Given the description of an element on the screen output the (x, y) to click on. 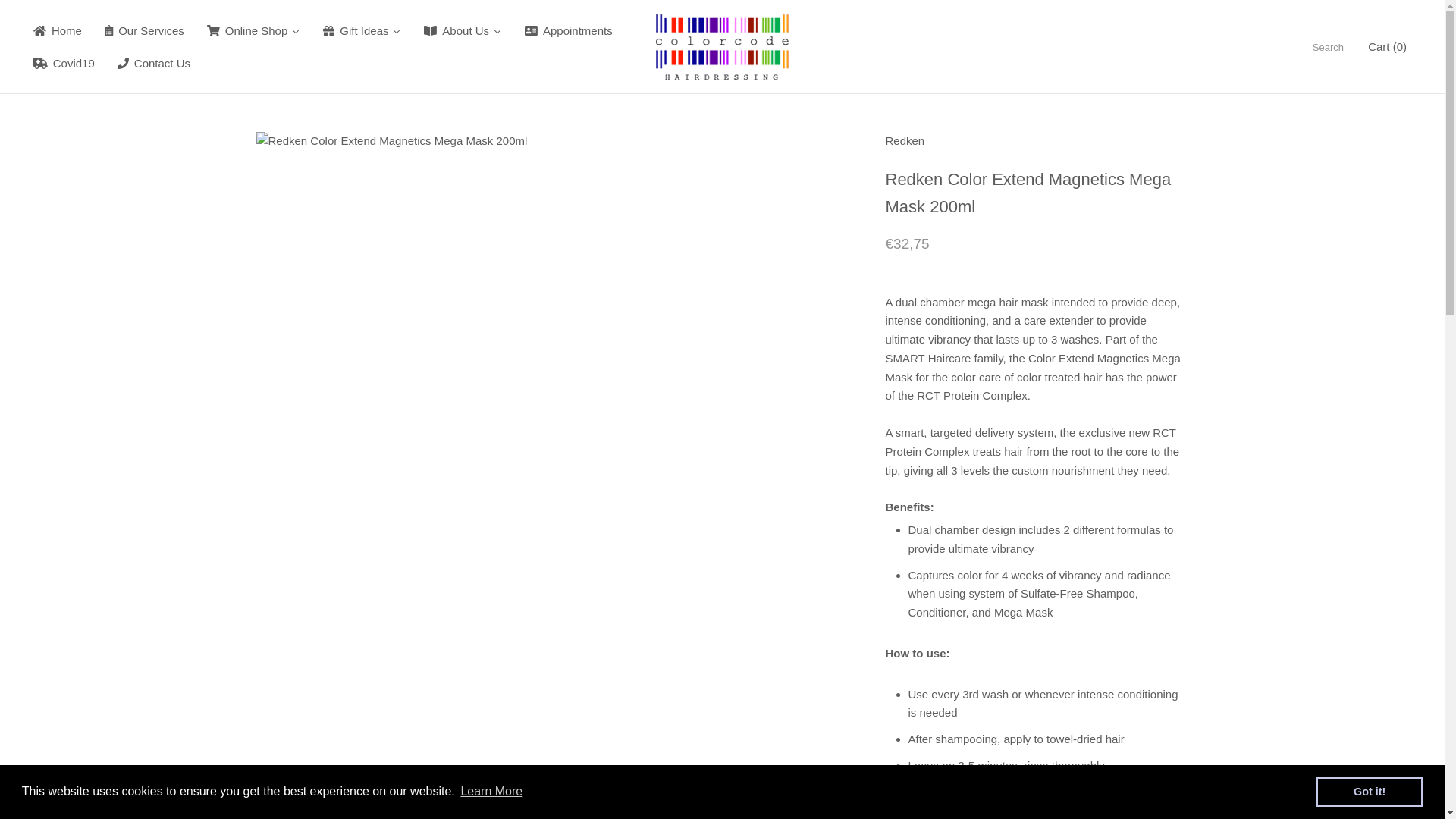
Our Services (144, 30)
Gift Ideas (361, 30)
Got it! (1369, 791)
About Us (462, 30)
Home (57, 30)
Gift Ideas (361, 30)
Learn More (491, 791)
Contact Us (154, 62)
Online Shop (253, 30)
Covid19 (63, 62)
Appointments (568, 30)
Contact Us (154, 62)
Appointments (568, 30)
Online Shop (253, 30)
Covid19 (63, 62)
